Given the description of an element on the screen output the (x, y) to click on. 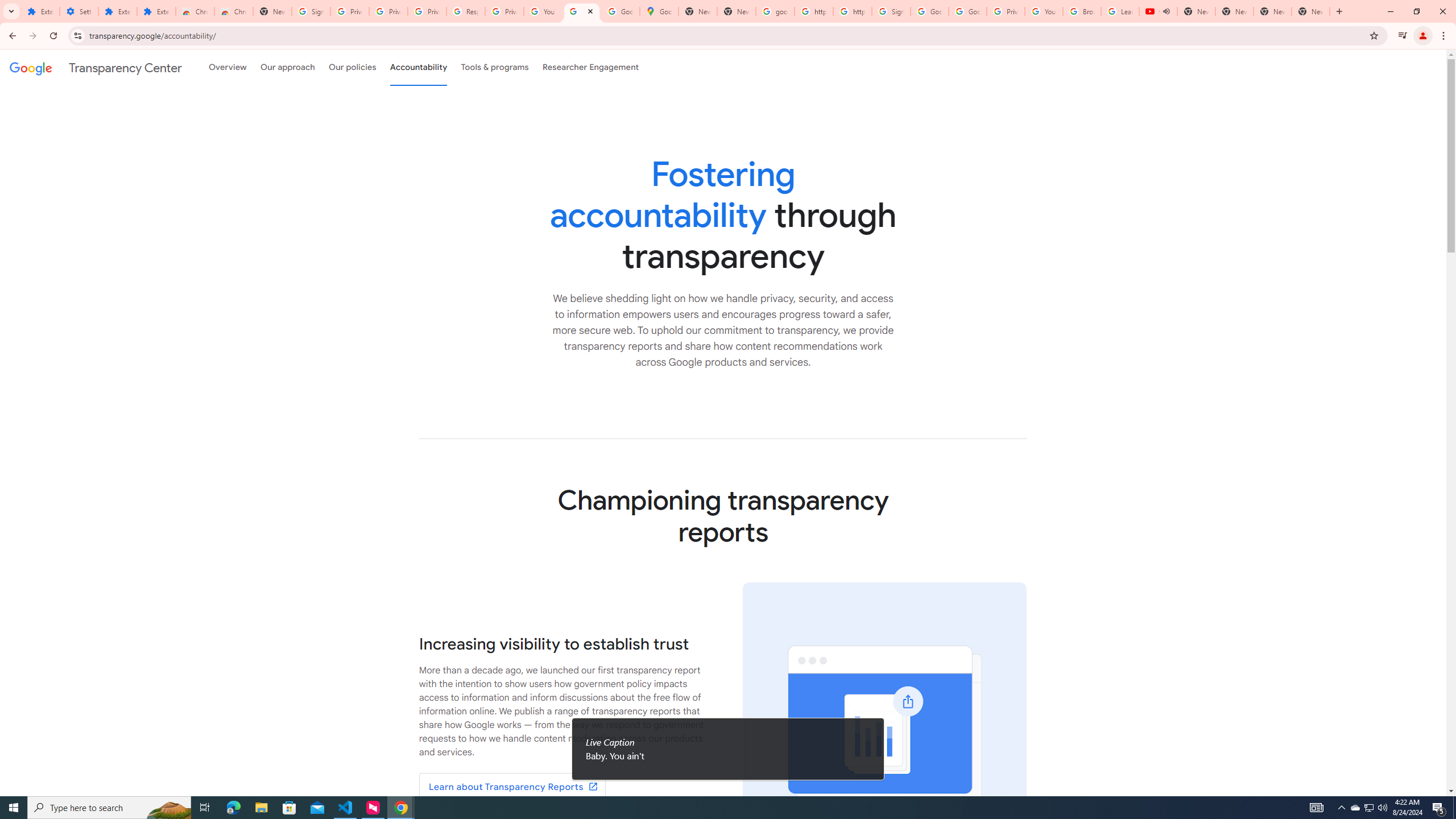
Address and search bar (725, 35)
YouTube (1043, 11)
Sign in - Google Accounts (890, 11)
Extensions (117, 11)
Chrome Web Store (194, 11)
Tools & programs (494, 67)
Extensions (40, 11)
YouTube (542, 11)
